Given the description of an element on the screen output the (x, y) to click on. 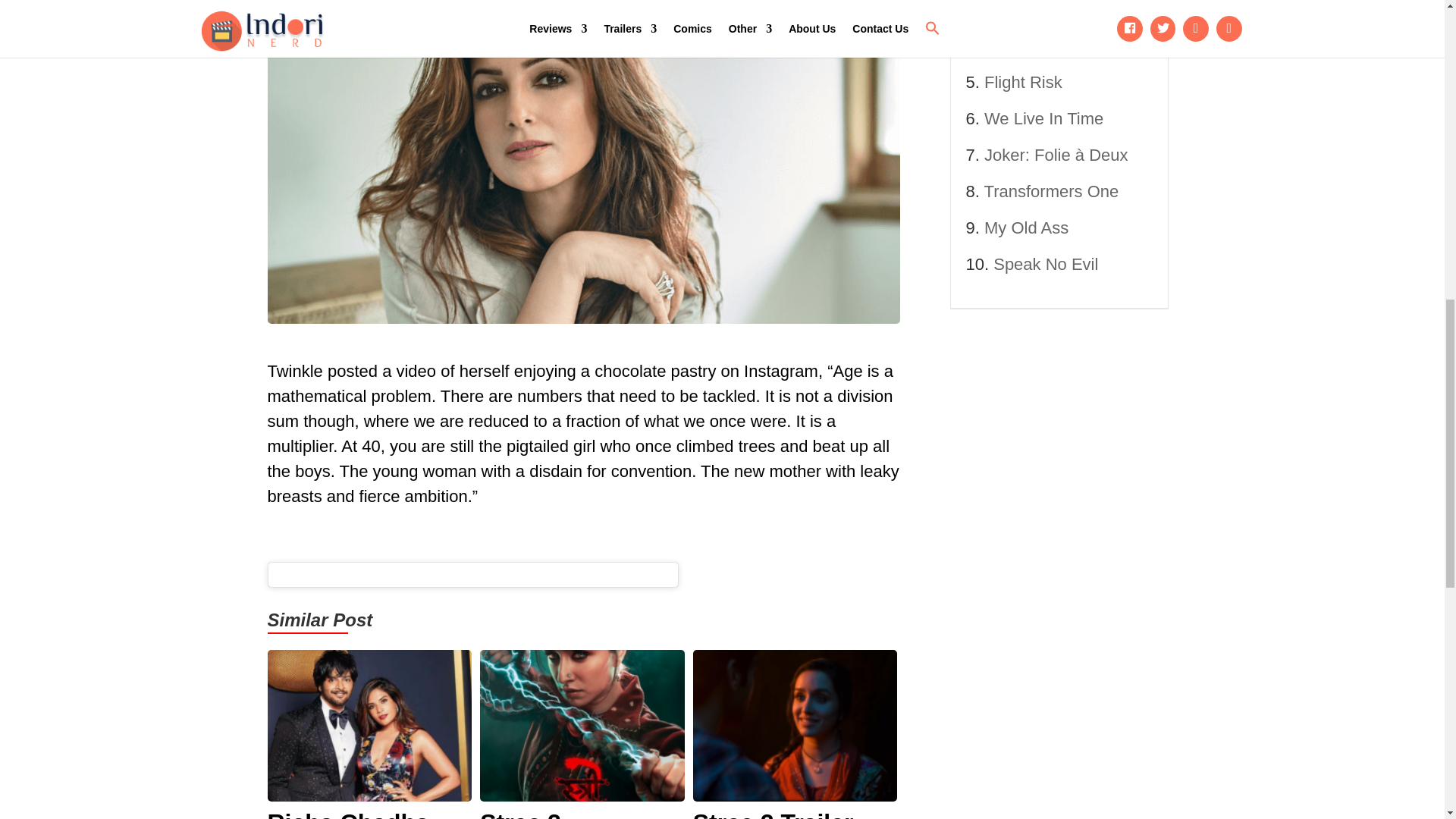
Stree 2 (582, 814)
Richa Chadha and Ali Fazal Welcome Baby Girl (368, 814)
Richa Chadha and Ali Fazal Welcome Baby Girl (368, 814)
Stree 2 (582, 814)
